Given the description of an element on the screen output the (x, y) to click on. 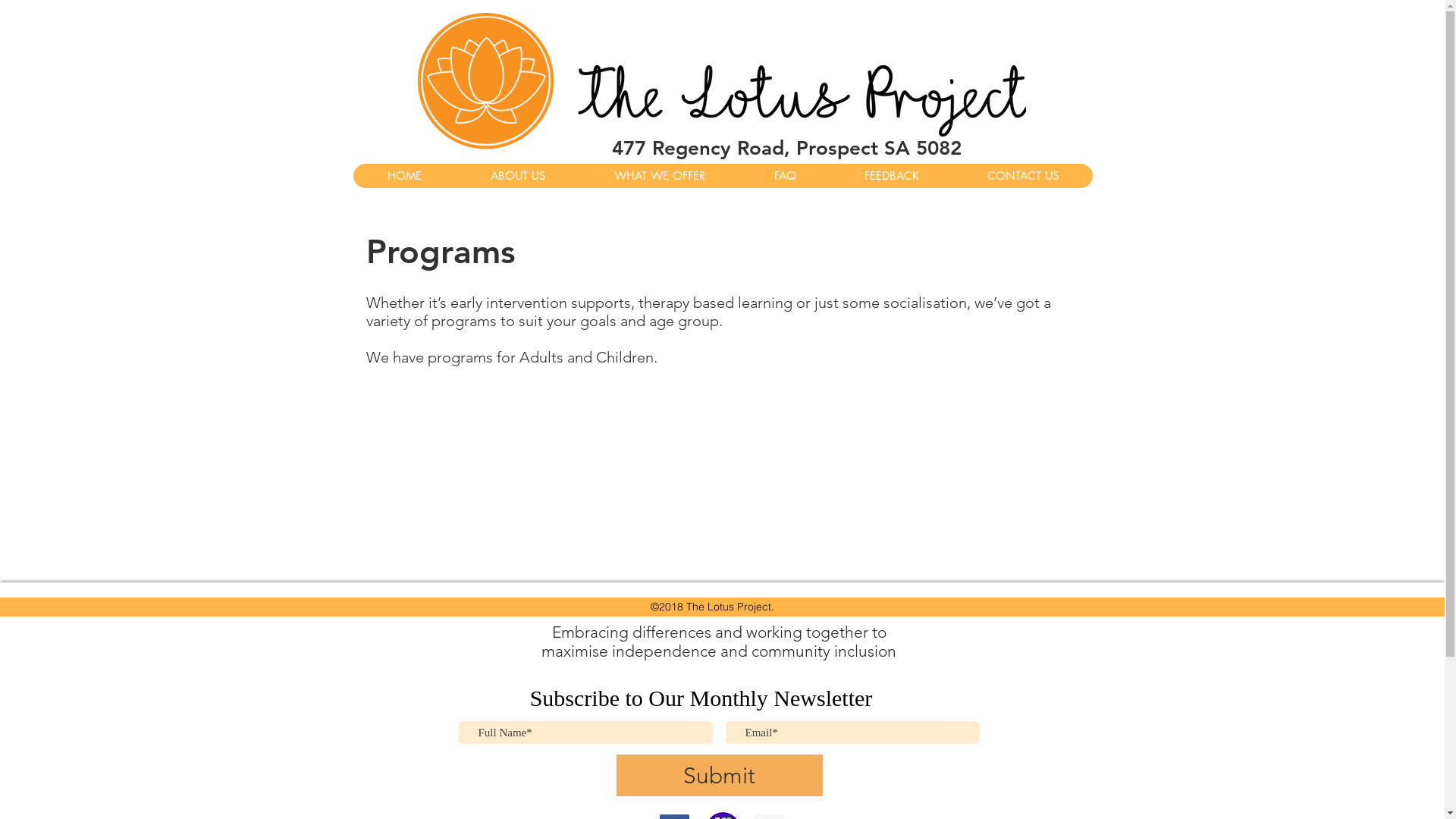
WHAT WE OFFER Element type: text (659, 175)
FAQ Element type: text (783, 175)
HOME Element type: text (404, 175)
Submit Element type: text (718, 775)
ABOUT US Element type: text (516, 175)
CONTACT US Element type: text (1022, 175)
FEEDBACK Element type: text (890, 175)
